Given the description of an element on the screen output the (x, y) to click on. 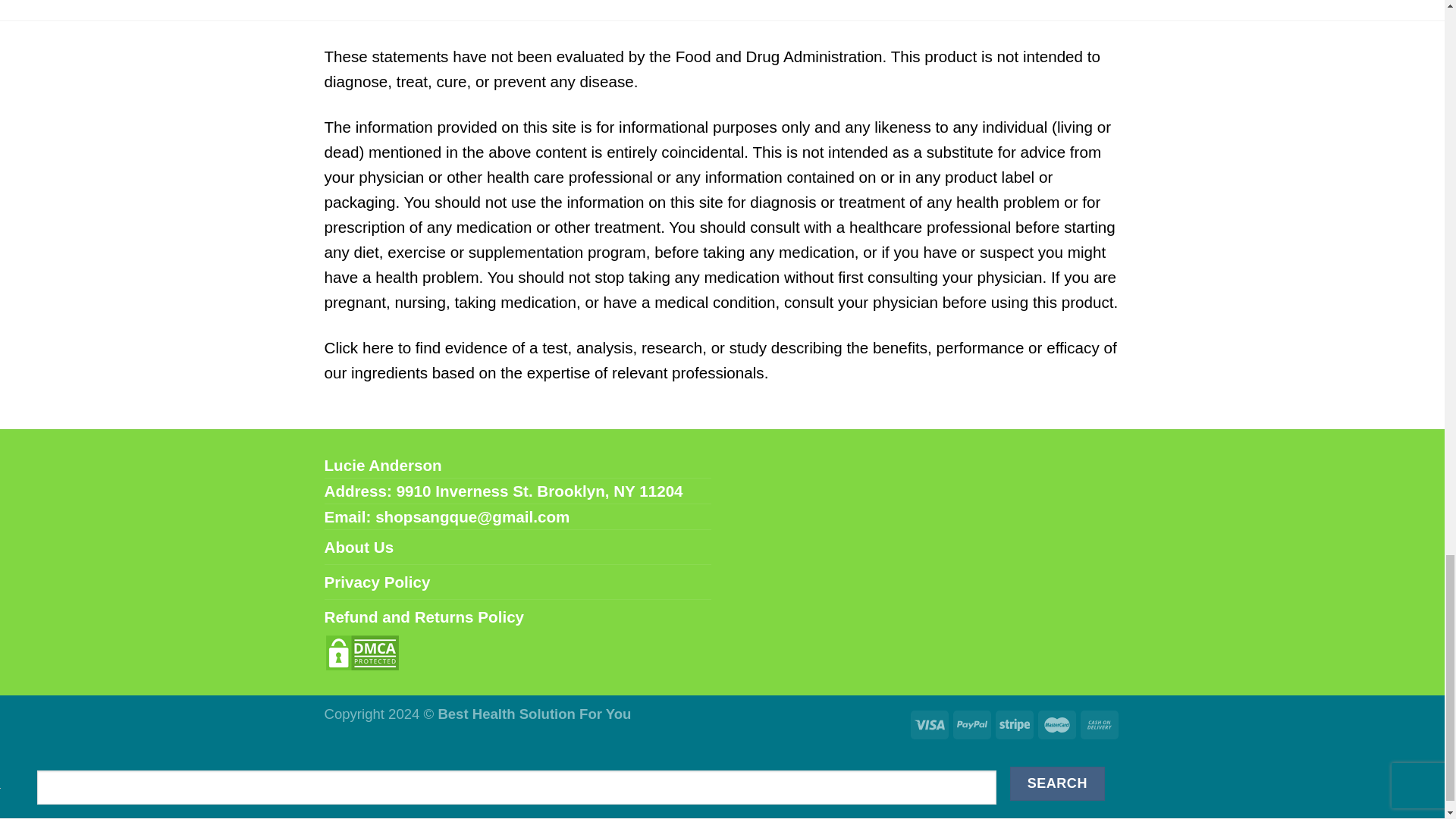
Privacy Policy (377, 581)
About Us (359, 546)
Search (1056, 783)
